Given the description of an element on the screen output the (x, y) to click on. 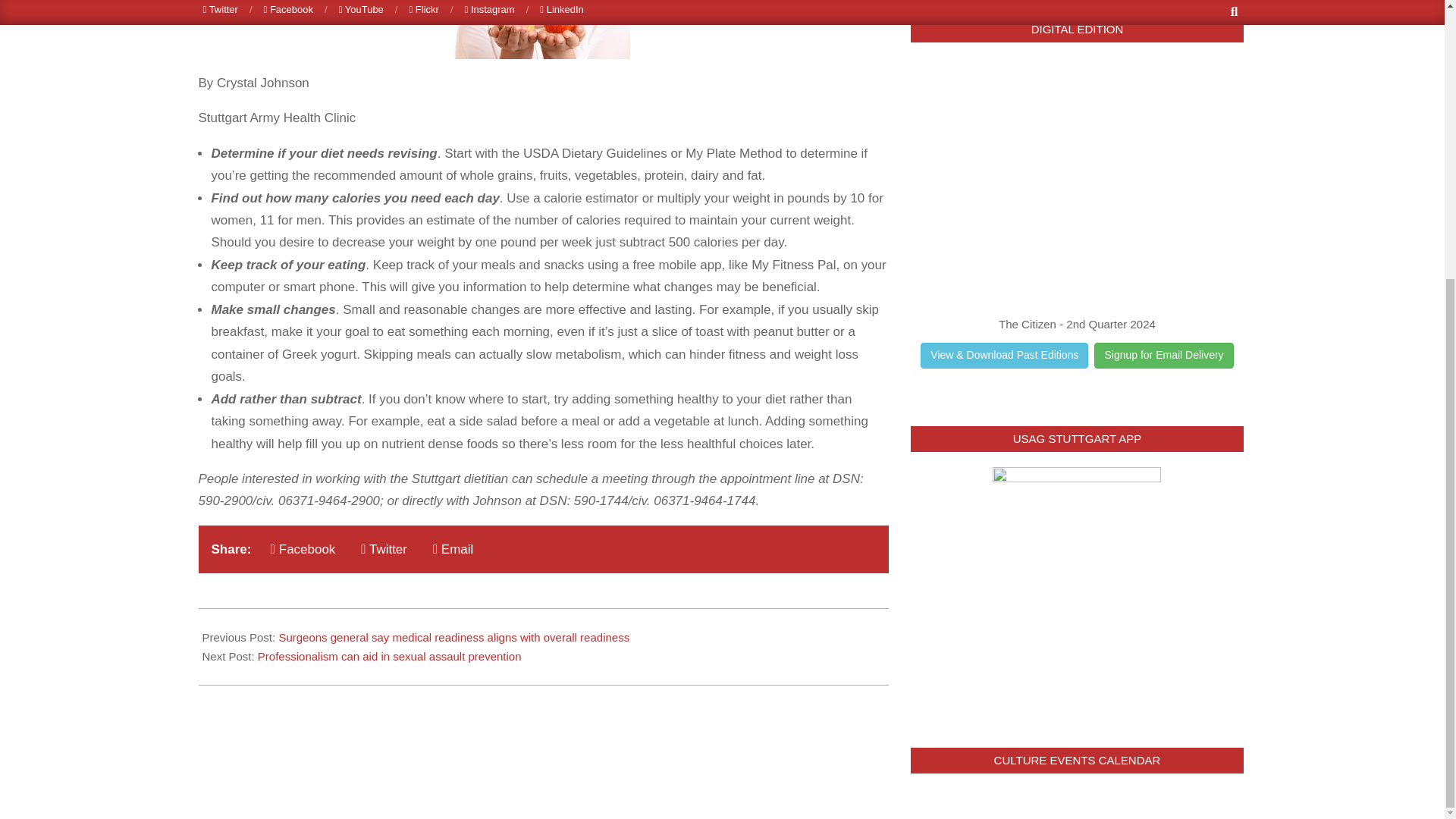
Share via Email (452, 549)
Share on Twitter (384, 549)
Share on Facebook (302, 549)
